Given the description of an element on the screen output the (x, y) to click on. 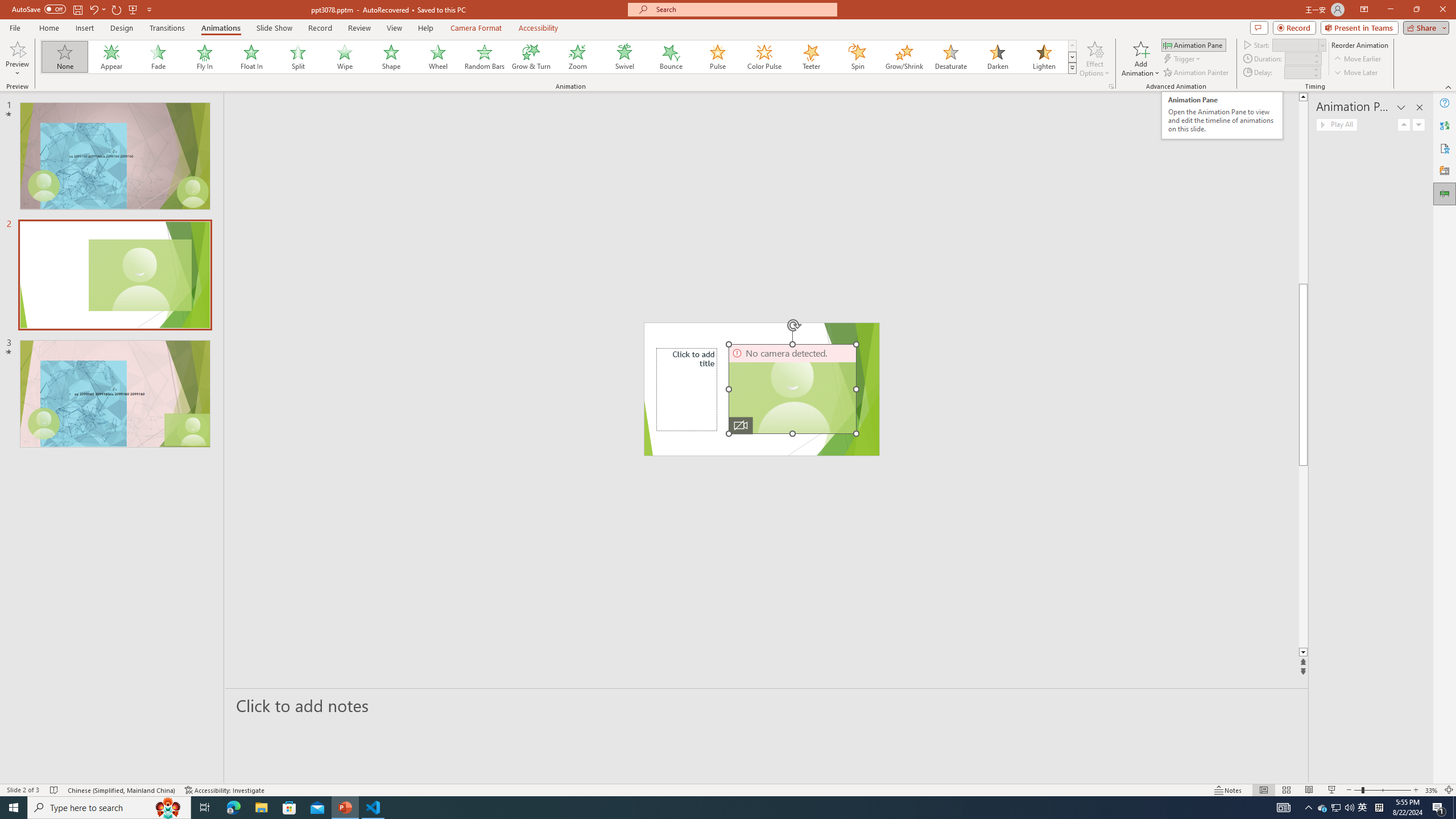
Move Down (1418, 124)
Swivel (624, 56)
